Given the description of an element on the screen output the (x, y) to click on. 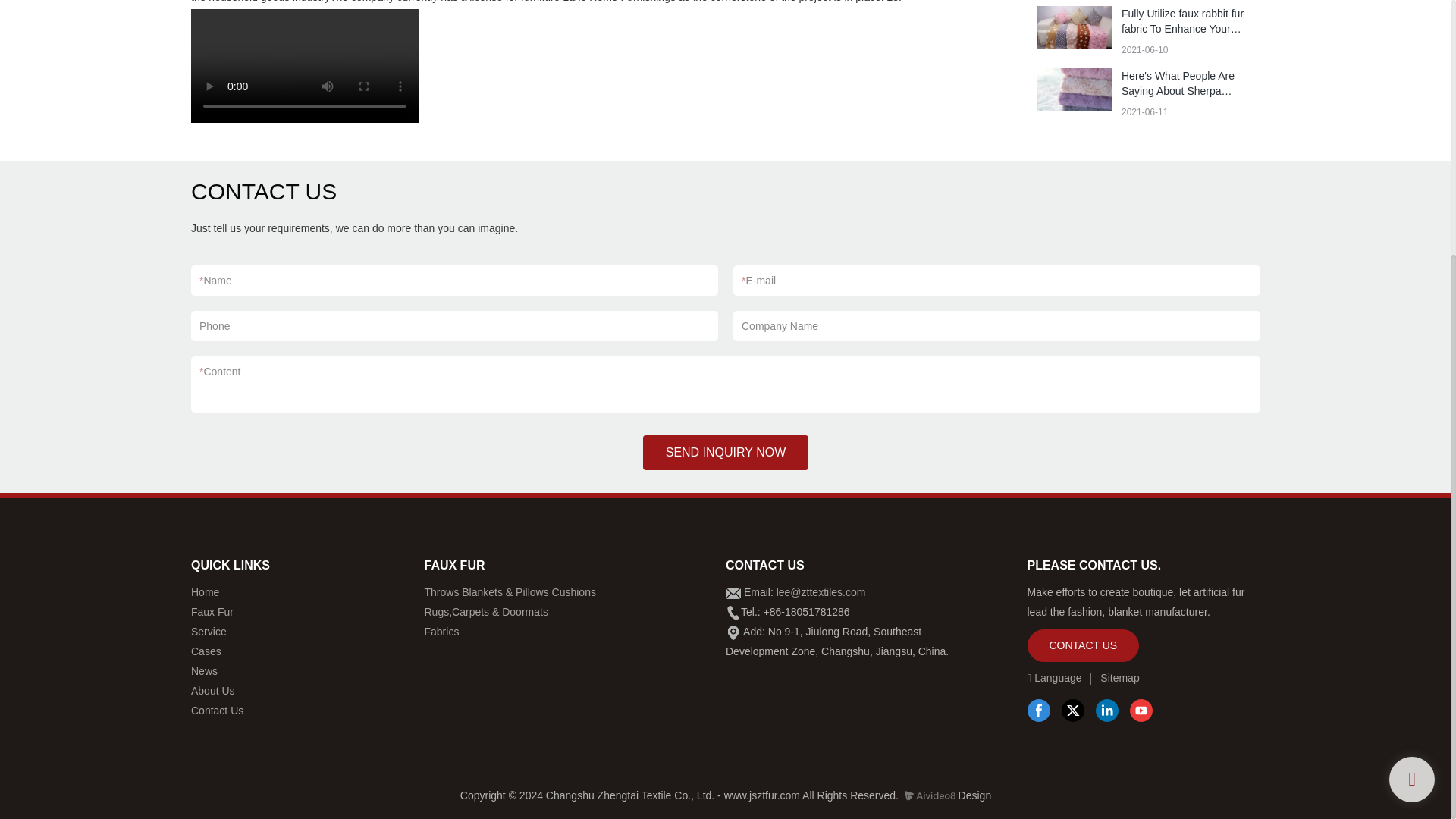
Here's What People Are Saying About Sherpa Throw Blanket (1177, 90)
Home (204, 592)
SEND INQUIRY NOW (726, 452)
